Given the description of an element on the screen output the (x, y) to click on. 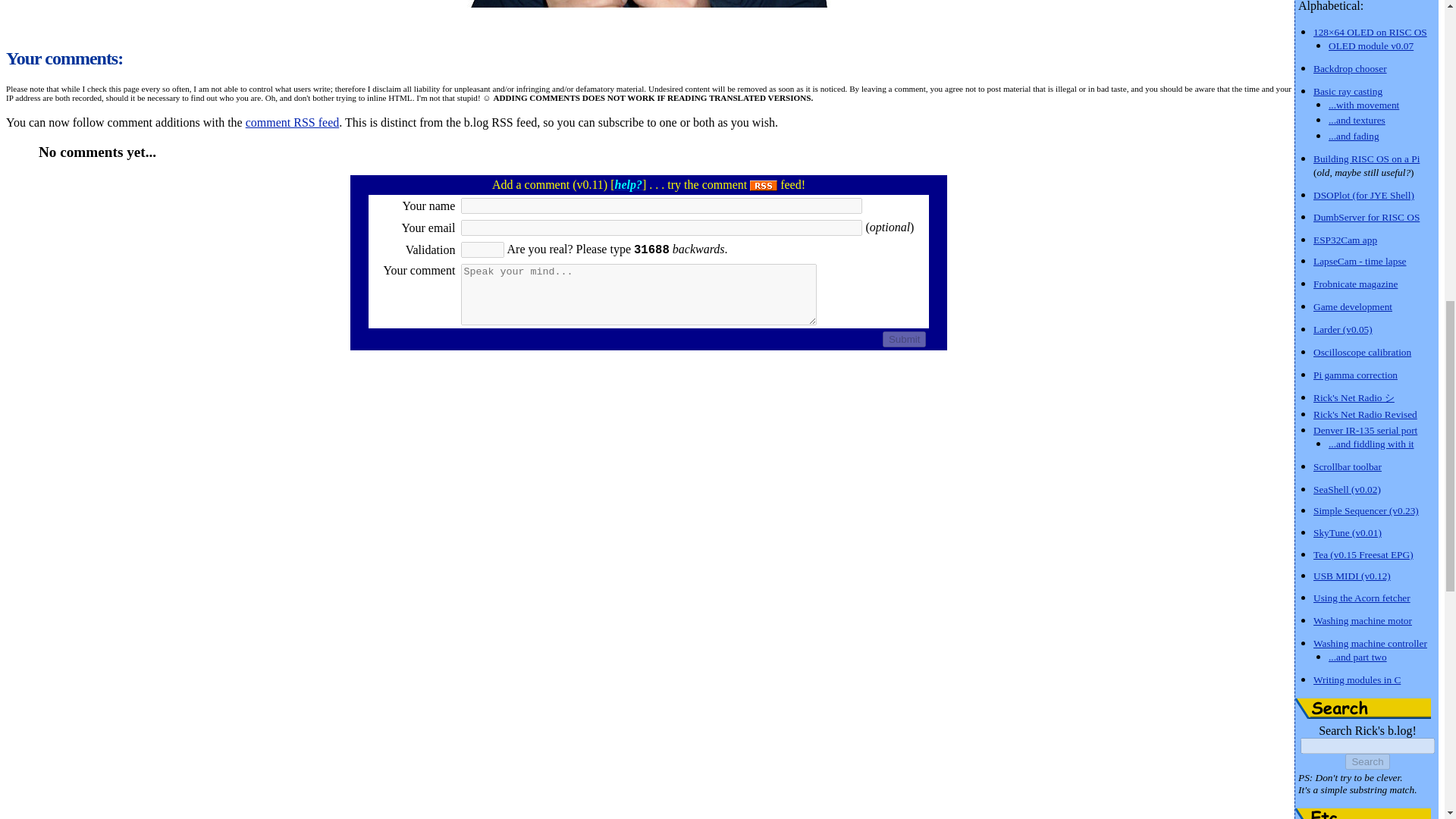
Submit (904, 339)
Backdrop chooser (1350, 67)
Search (1367, 761)
comment RSS feed (292, 122)
...with movement (1363, 103)
Submit (904, 339)
Basic ray casting (1347, 90)
Search (1363, 708)
OLED module v0.07 (1370, 44)
Etc... (1363, 813)
